Given the description of an element on the screen output the (x, y) to click on. 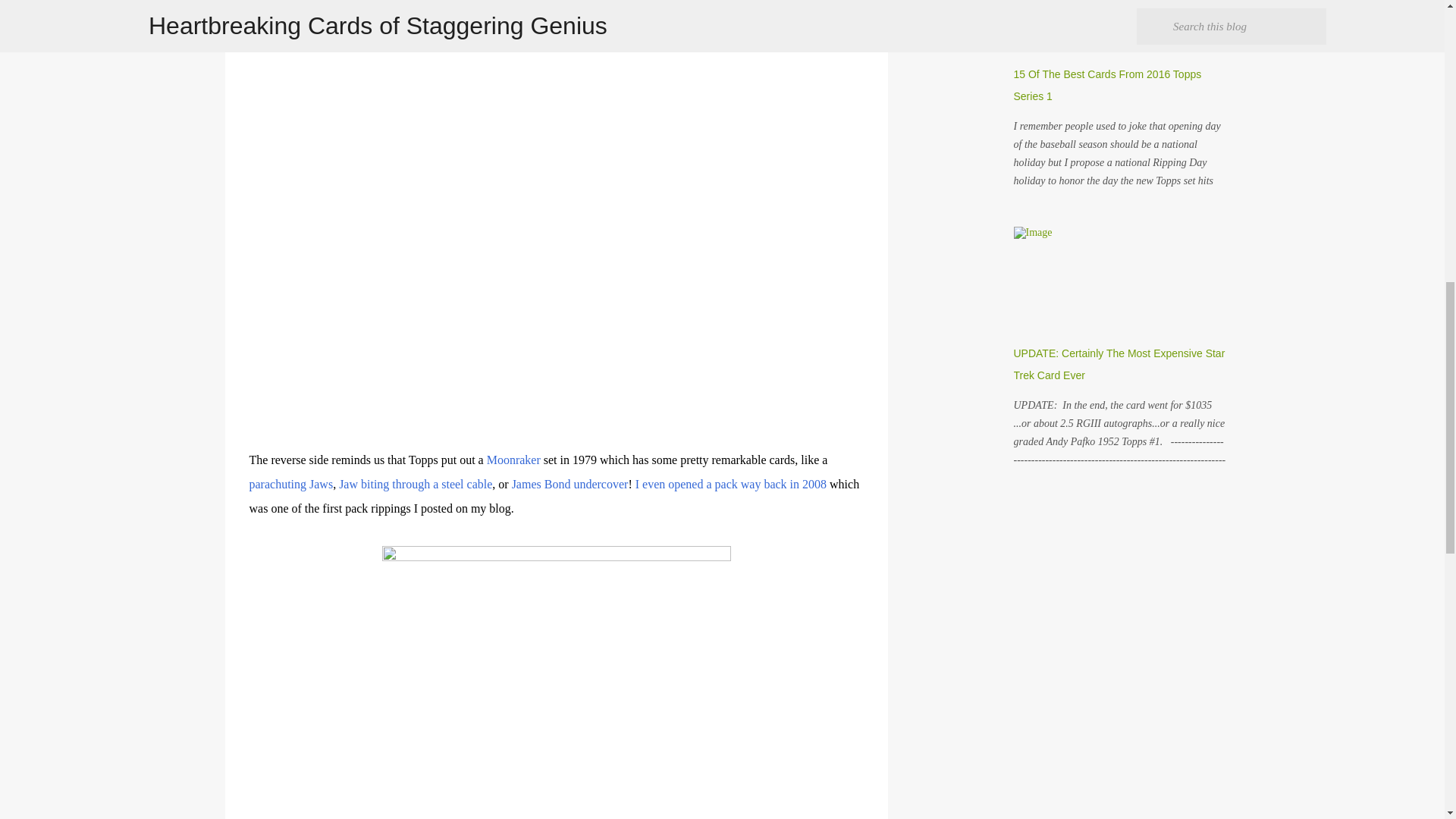
parachuting Jaws (290, 483)
I even opened a pack way back in 2008 (730, 483)
Moonraker (513, 459)
UPDATE: Certainly The Most Expensive Star Trek Card Ever (1118, 364)
James Bond undercover (570, 483)
15 Of The Best Cards From 2016 Topps Series 1 (1107, 84)
Jaw biting through a steel cable (415, 483)
